Given the description of an element on the screen output the (x, y) to click on. 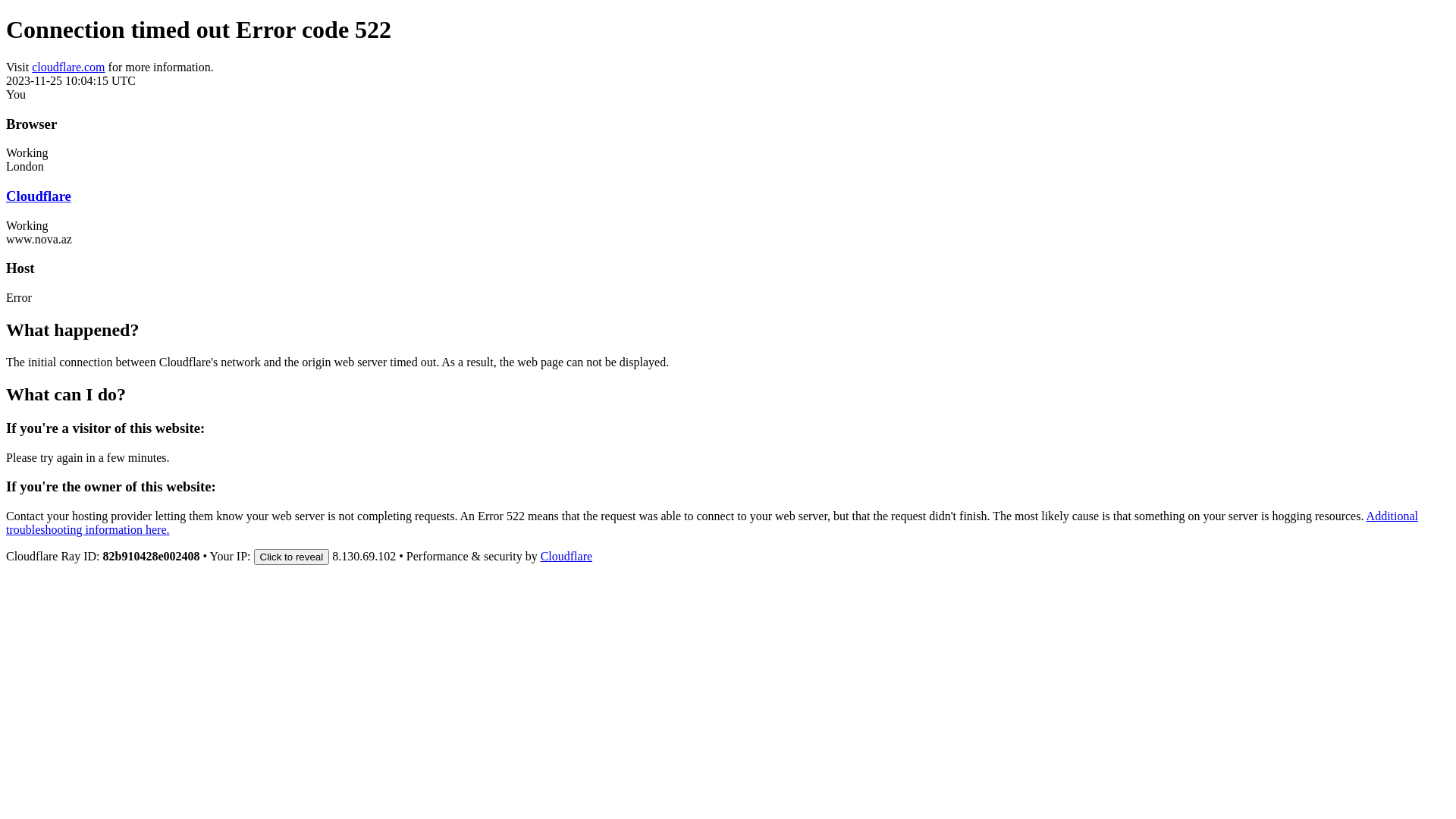
Cloudflare Element type: text (38, 195)
Additional troubleshooting information here. Element type: text (712, 522)
cloudflare.com Element type: text (67, 66)
Cloudflare Element type: text (566, 555)
Click to reveal Element type: text (291, 556)
